Given the description of an element on the screen output the (x, y) to click on. 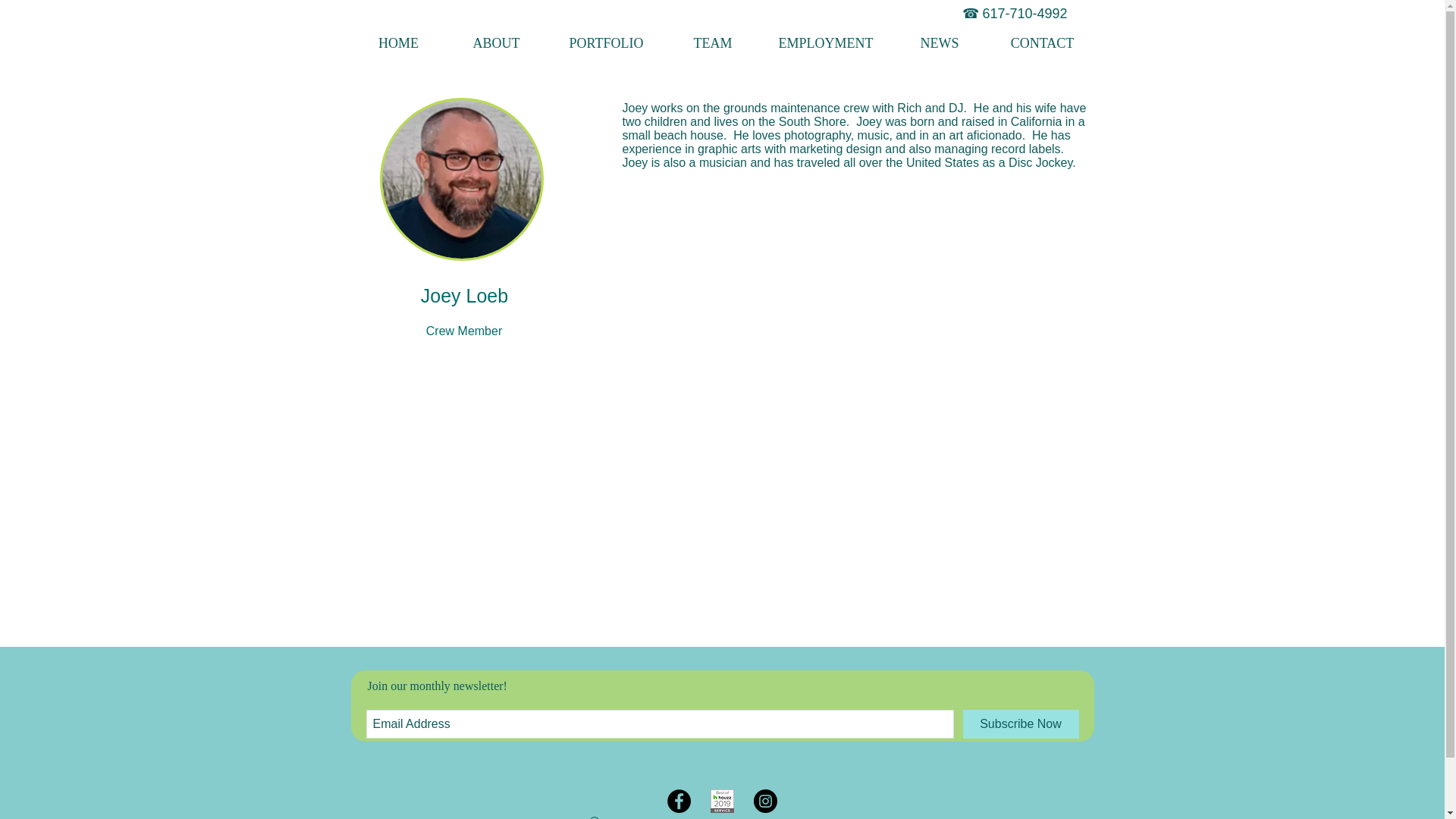
TEAM (711, 43)
ABOUT (495, 43)
HOME (397, 43)
CONTACT (1042, 43)
NEWS (939, 43)
PORTFOLIO (605, 43)
Subscribe Now (1020, 724)
EMPLOYMENT (826, 43)
